Given the description of an element on the screen output the (x, y) to click on. 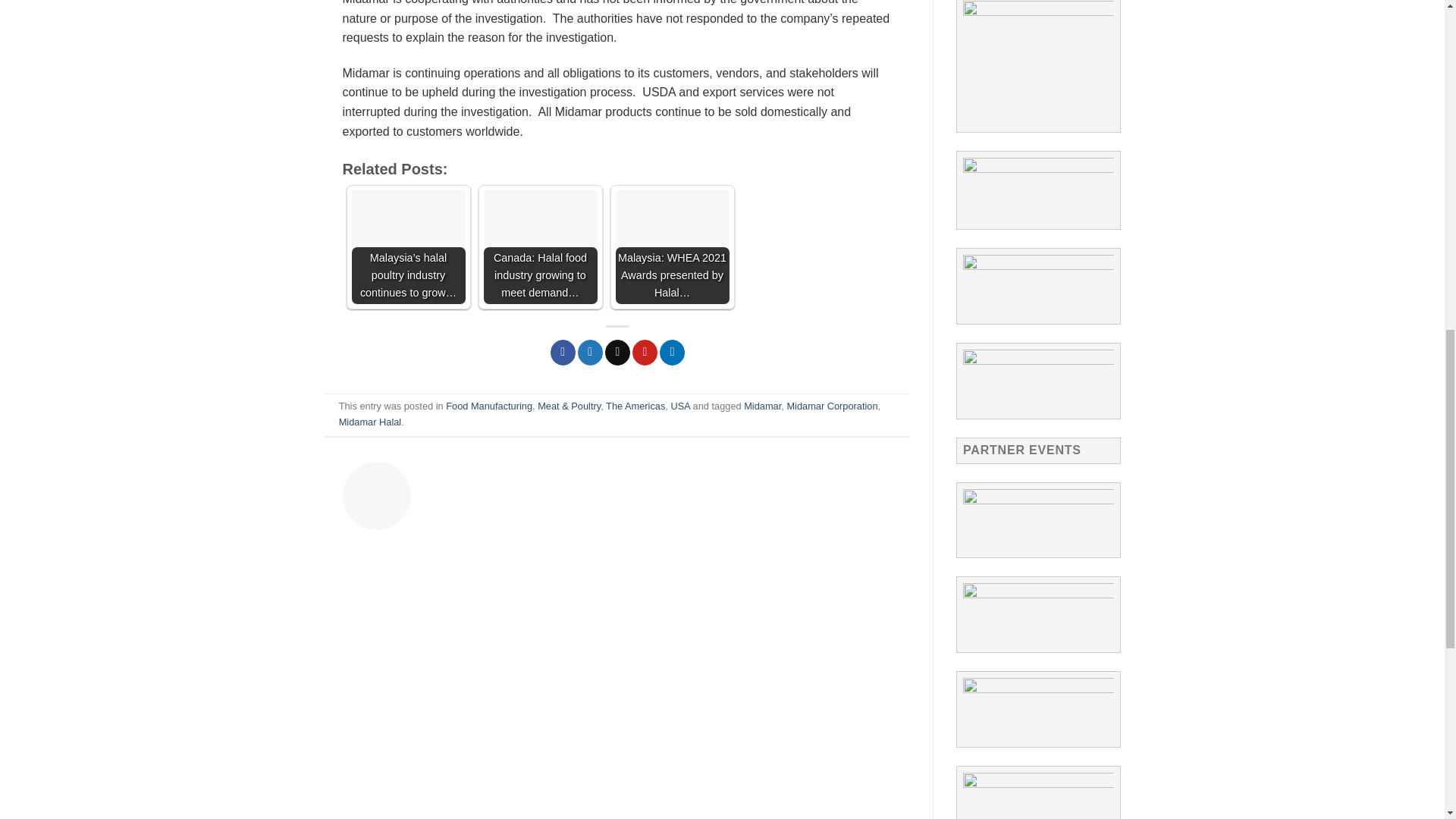
Email to a Friend (617, 352)
Share on Facebook (562, 352)
Pin on Pinterest (644, 352)
Share on Twitter (590, 352)
